Given the description of an element on the screen output the (x, y) to click on. 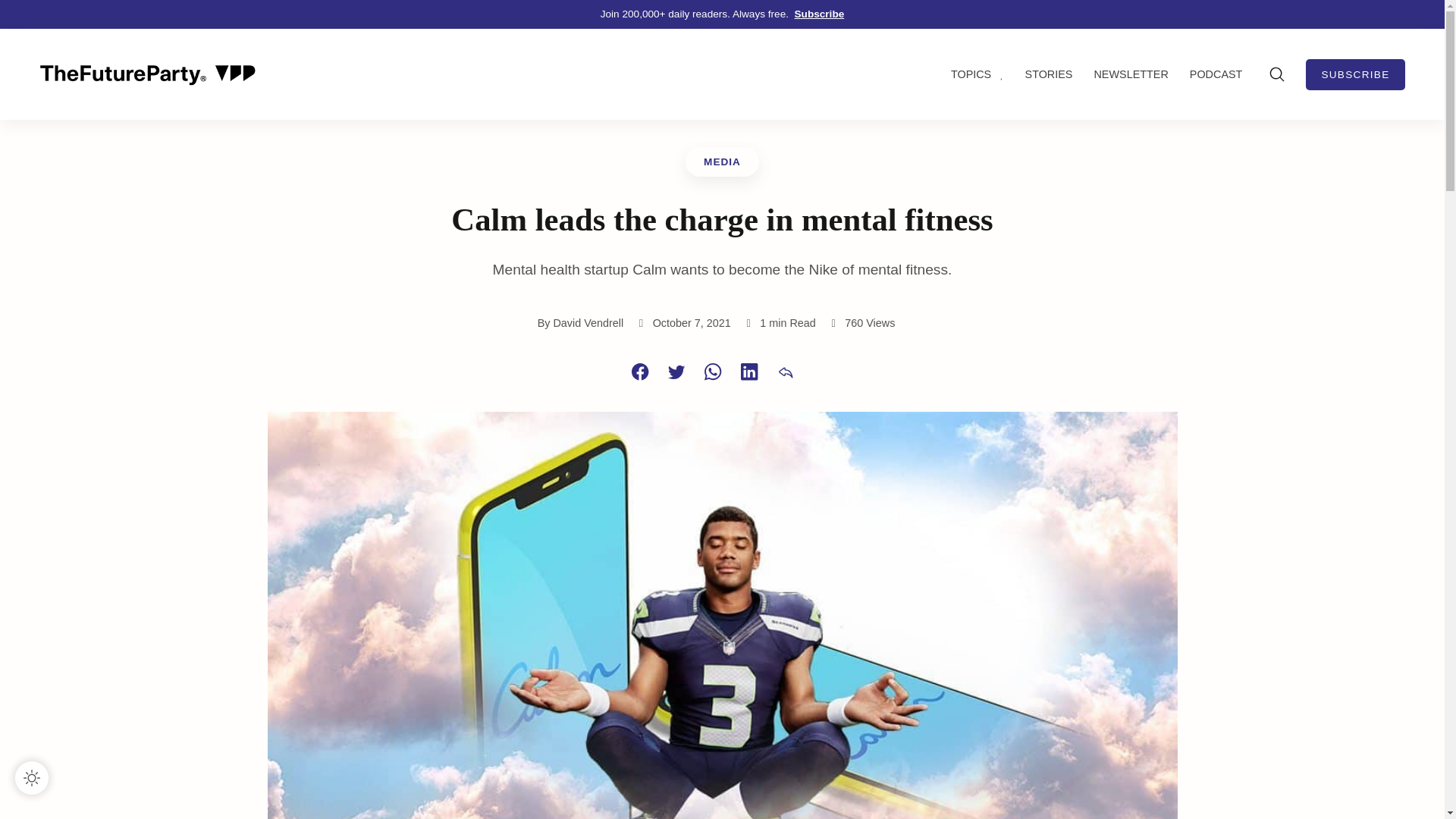
Toggle Dark Mode (31, 777)
Subscribe (819, 14)
SUBSCRIBE (1355, 74)
David Vendrell (588, 322)
TheFutureParty - A Community-based Media Company (147, 74)
STORIES (1057, 74)
TOPICS (986, 74)
NEWSLETTER (1139, 74)
MEDIA (721, 161)
PODCAST (1219, 74)
